Given the description of an element on the screen output the (x, y) to click on. 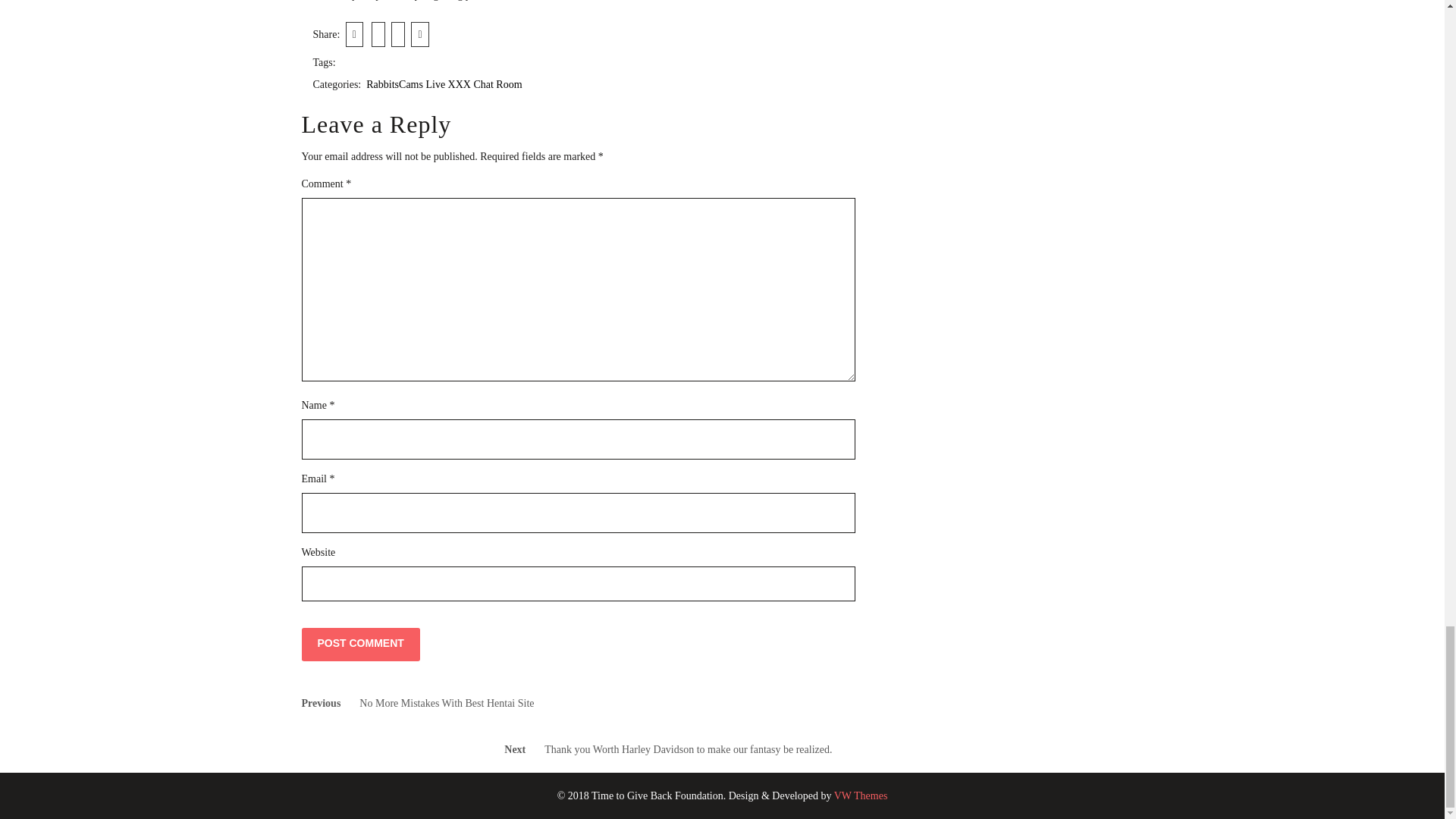
VW Themes (858, 795)
RabbitsCams Live XXX Chat Room (443, 84)
Post Comment (360, 644)
Post Comment (360, 644)
